Given the description of an element on the screen output the (x, y) to click on. 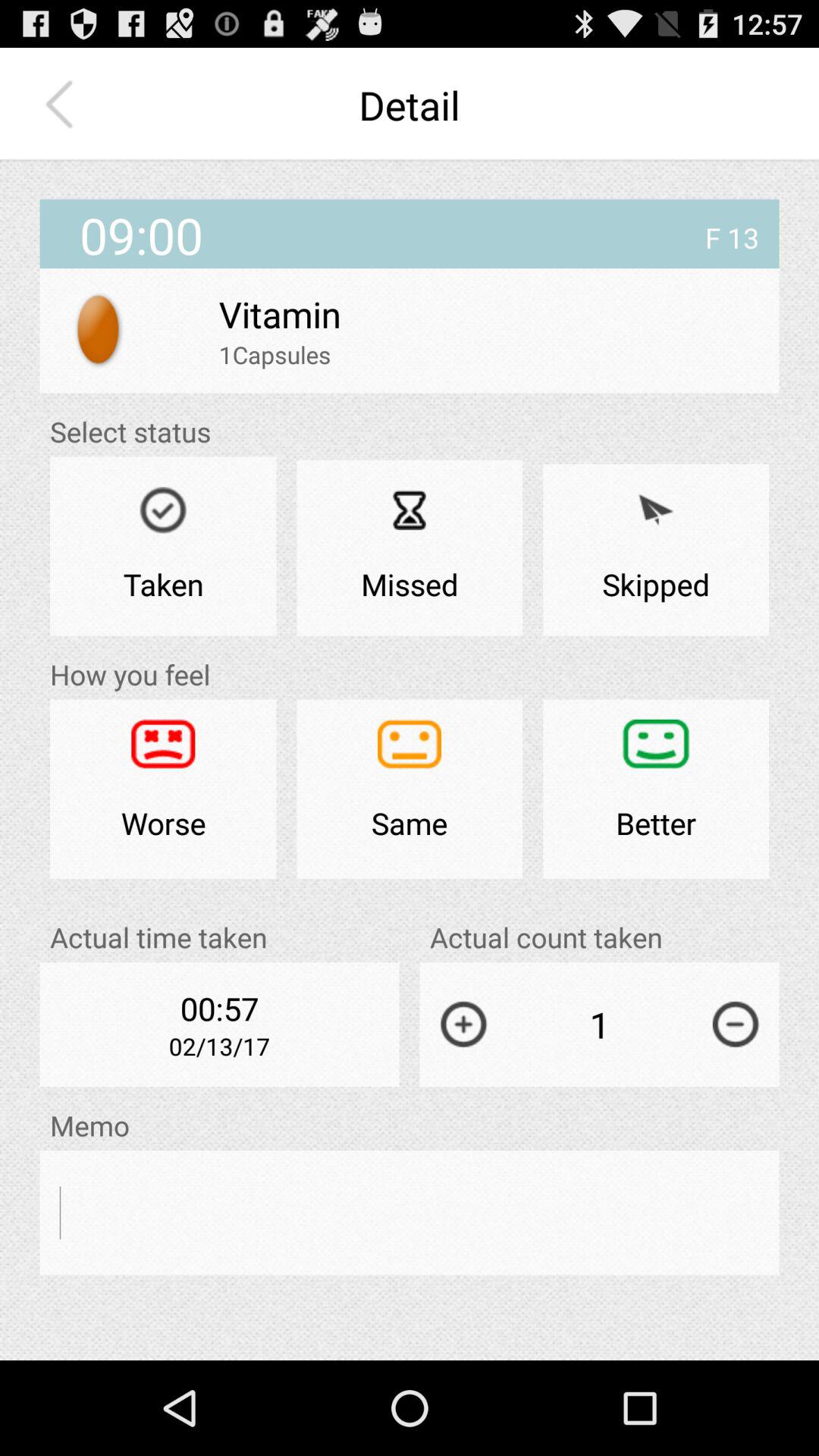
turn off the radio button next to the same radio button (163, 788)
